Given the description of an element on the screen output the (x, y) to click on. 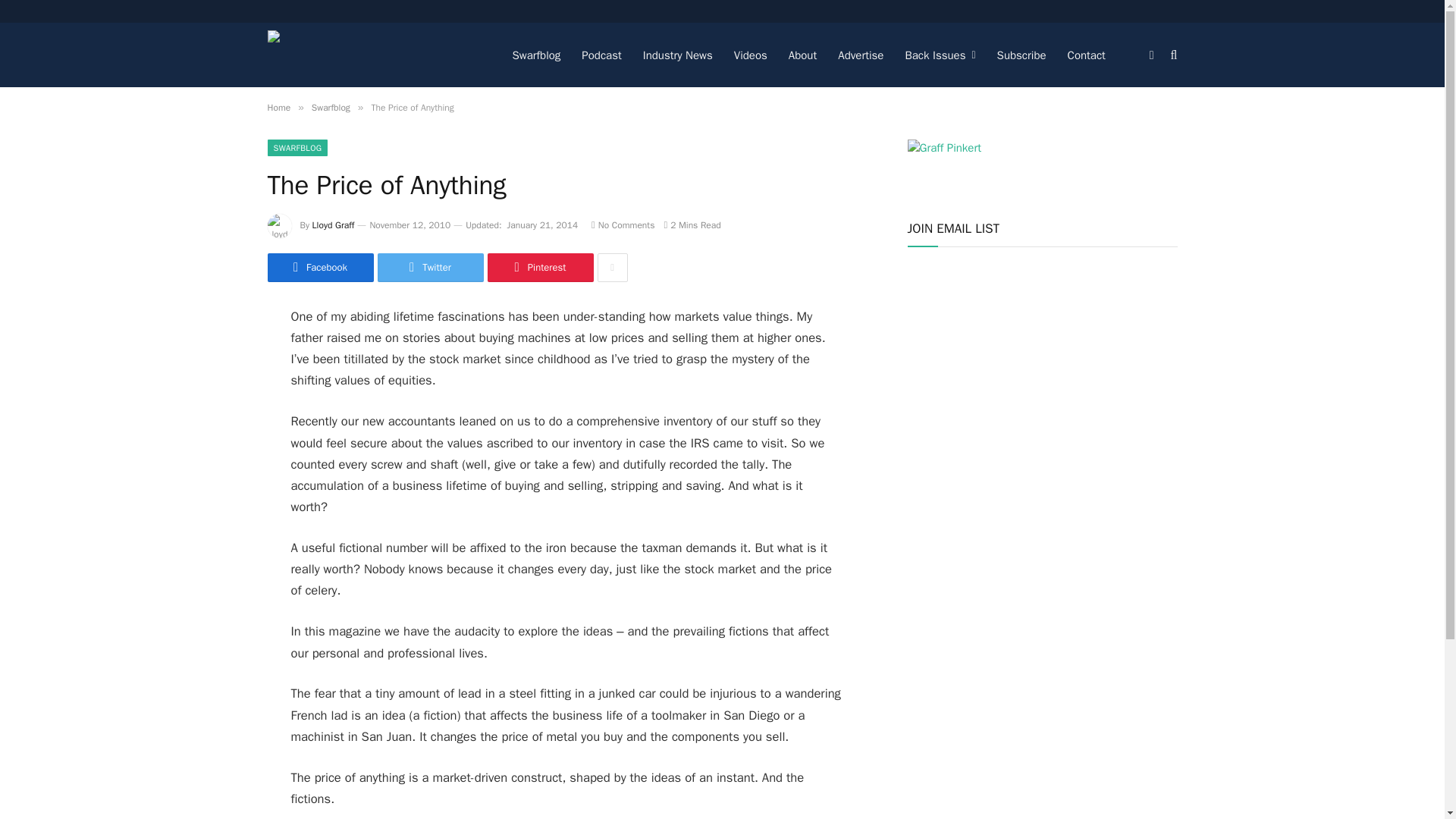
Share on Twitter (430, 267)
Advertise (860, 54)
Share on Pinterest (539, 267)
Twitter (430, 267)
Pinterest (539, 267)
Posts by Lloyd Graff (334, 224)
Lloyd Graff (334, 224)
Industry News (677, 54)
Subscribe (1022, 54)
Contact (1086, 54)
Podcast (600, 54)
No Comments (622, 224)
Show More Social Sharing (611, 267)
Back Issues (939, 54)
Home (277, 107)
